Given the description of an element on the screen output the (x, y) to click on. 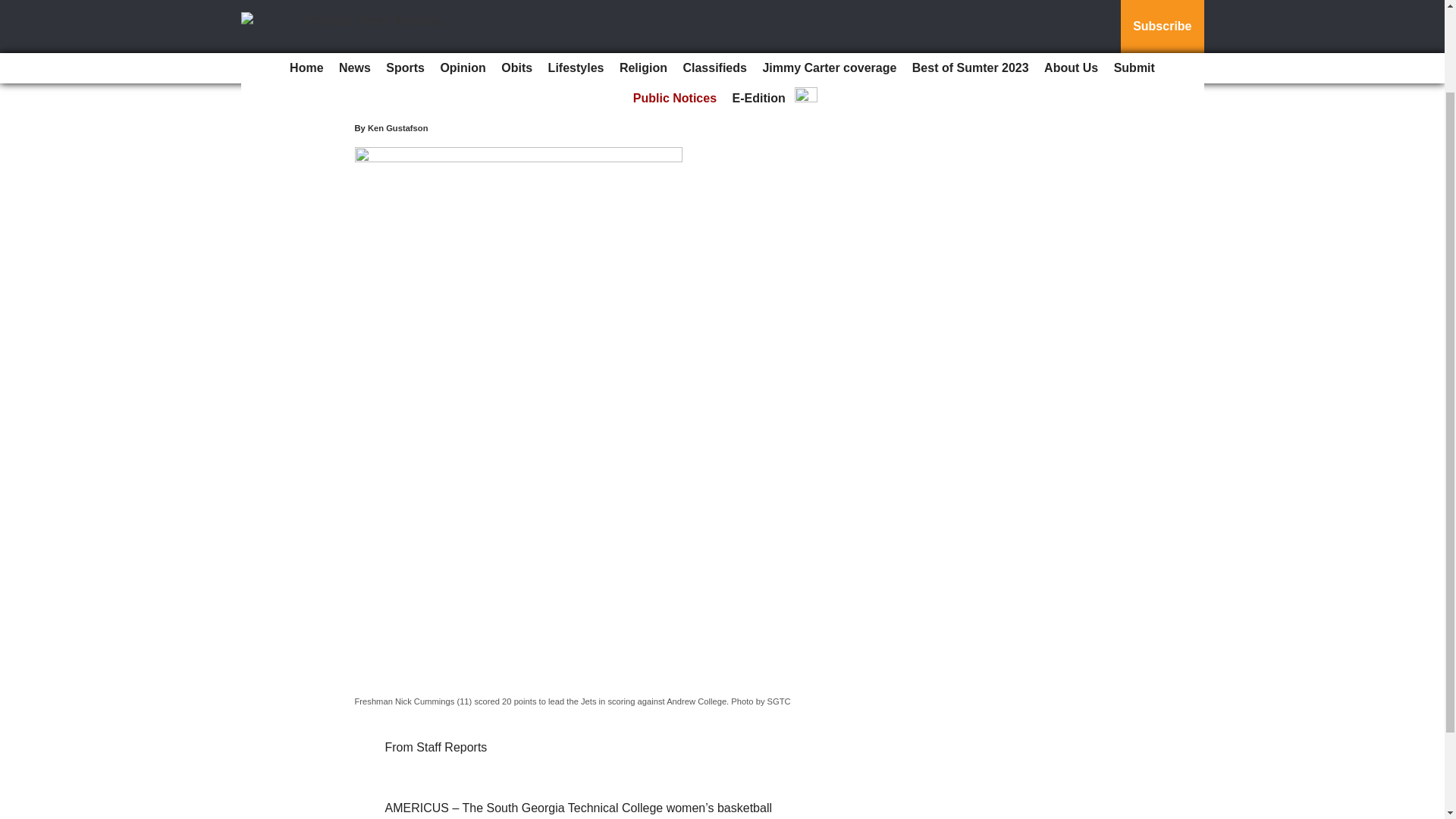
E-Edition (759, 4)
Public Notices (674, 4)
Ken Gustafson (398, 127)
